Given the description of an element on the screen output the (x, y) to click on. 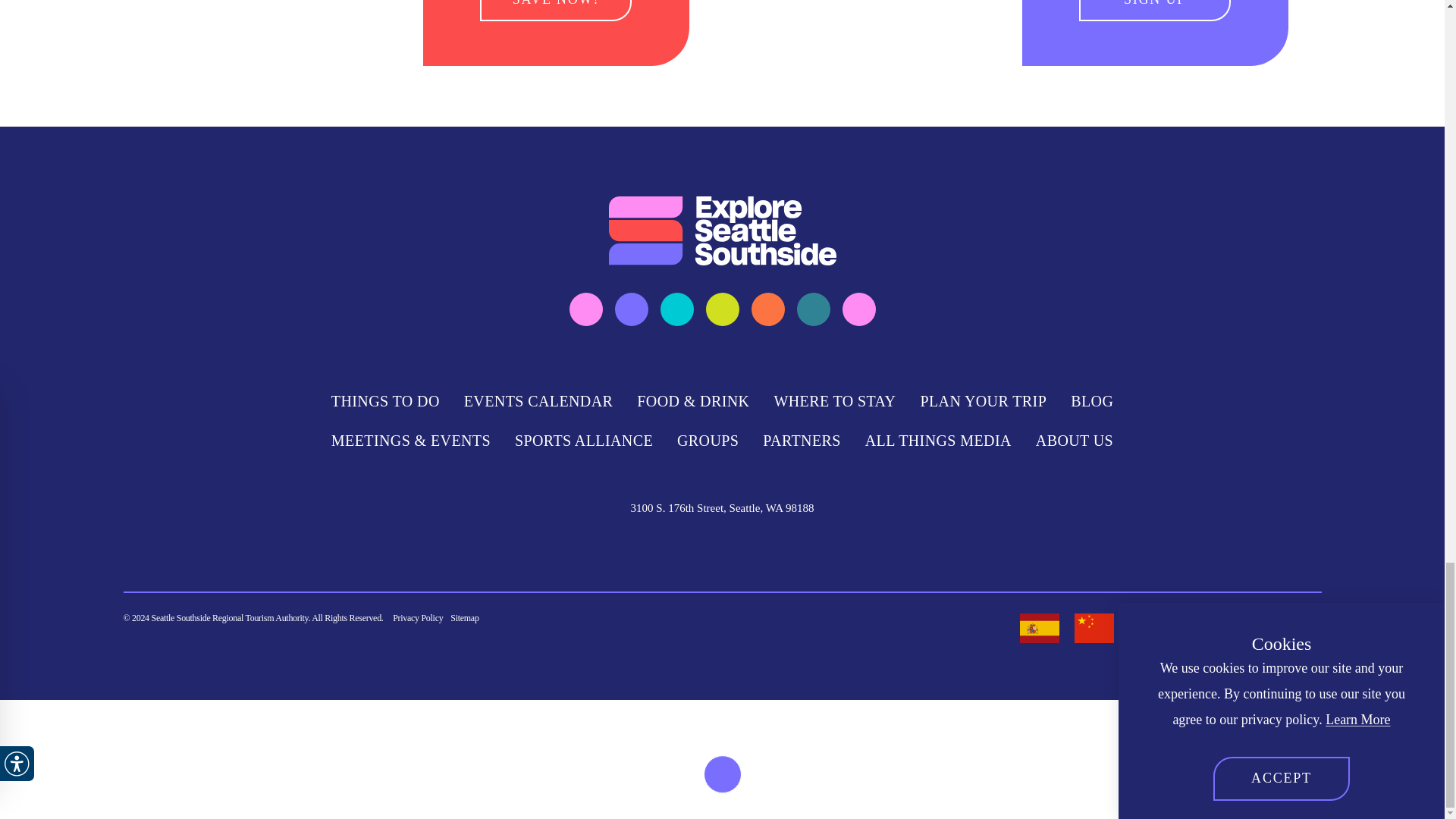
SAVE NOW! (555, 11)
THINGS TO DO (385, 401)
SIGN UP (1154, 11)
